Given the description of an element on the screen output the (x, y) to click on. 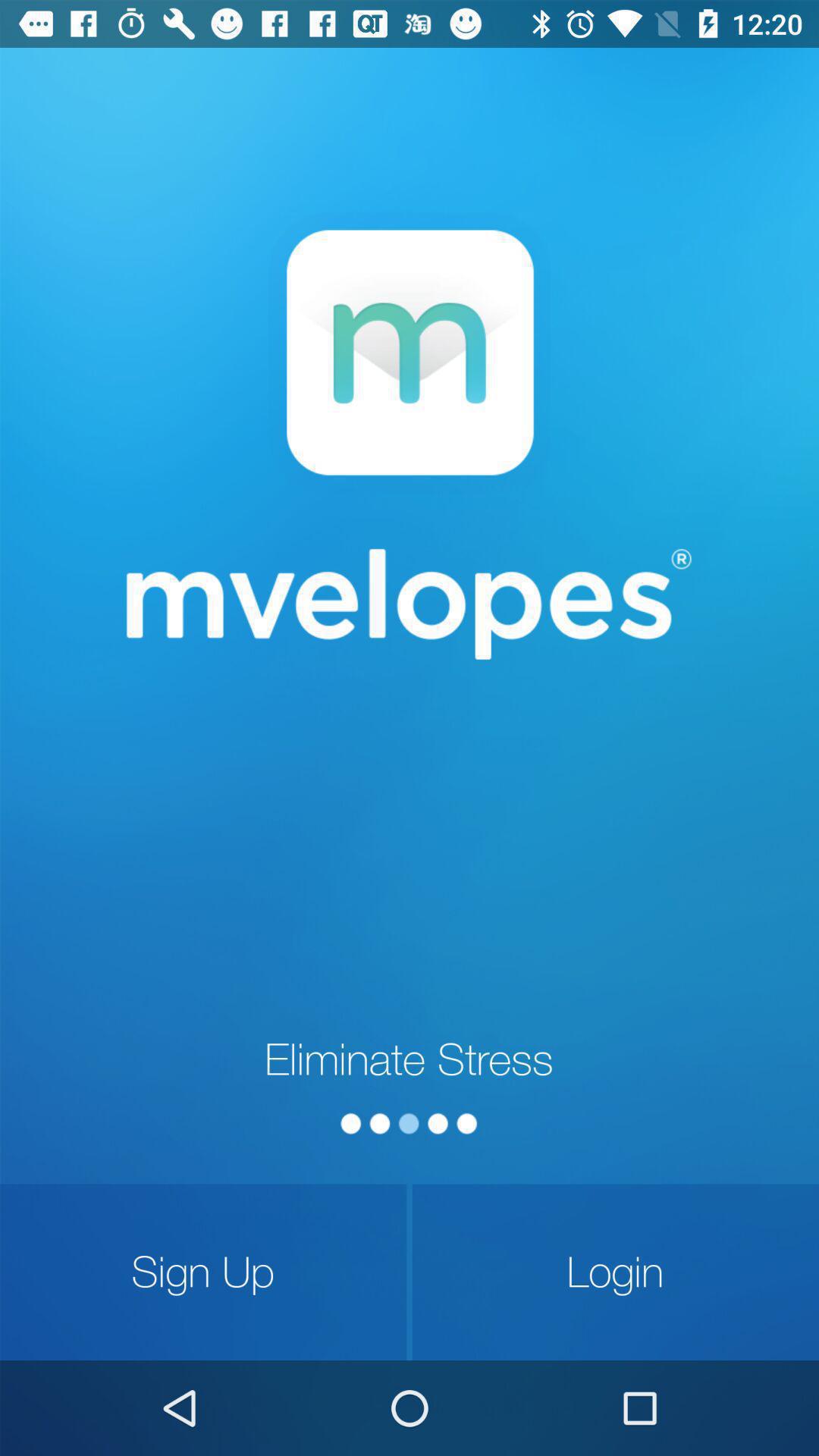
choose item at the bottom left corner (203, 1272)
